Given the description of an element on the screen output the (x, y) to click on. 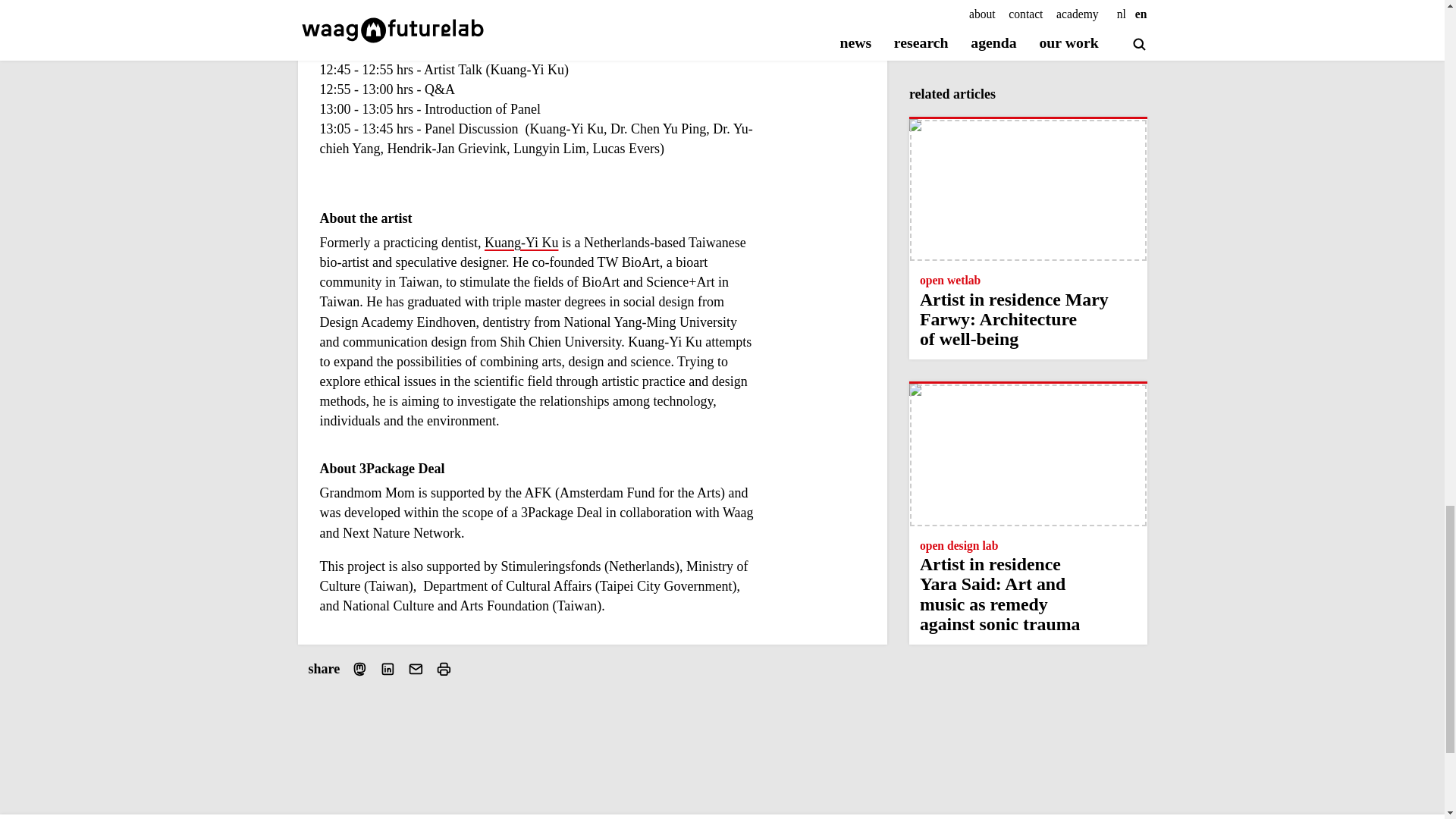
Print (443, 669)
Kuang-Yi Ku (521, 243)
Share on Mastodon (360, 669)
Share via e-mail (415, 669)
Share on LinkedIn (388, 669)
